Given the description of an element on the screen output the (x, y) to click on. 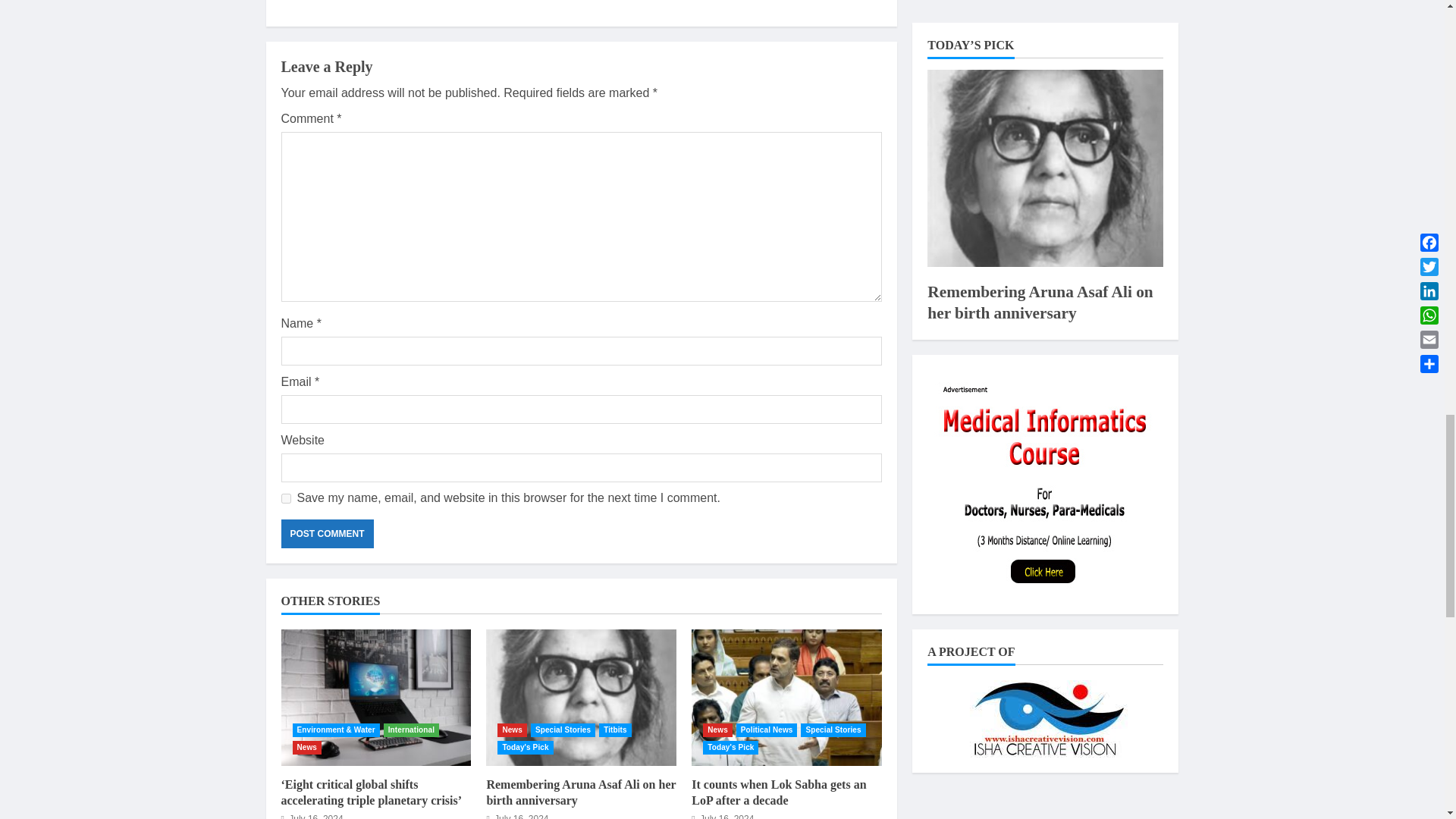
Post Comment (326, 533)
yes (285, 498)
